Given the description of an element on the screen output the (x, y) to click on. 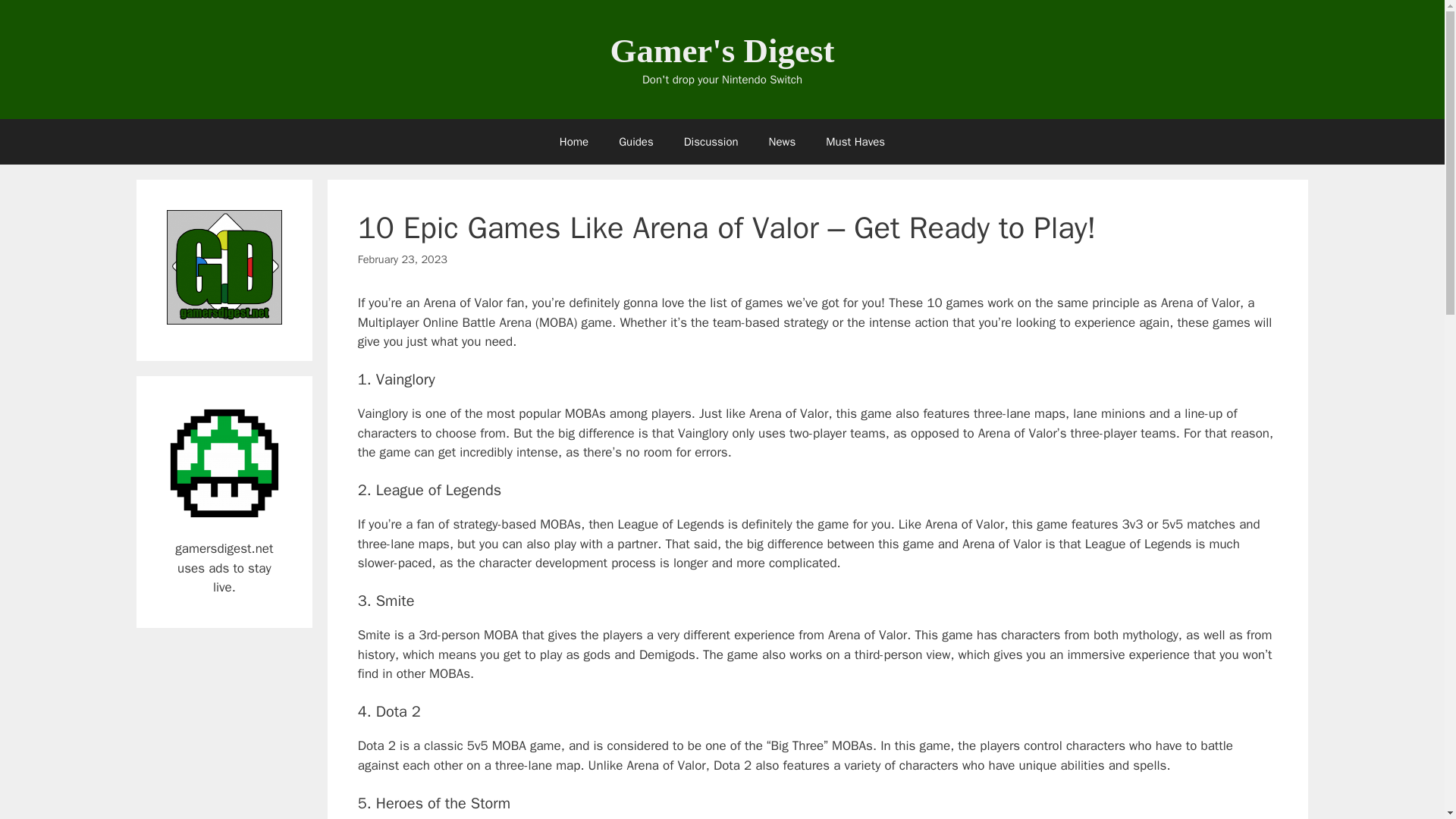
Gamer's Digest (722, 50)
News (782, 140)
February 23, 2023 (402, 259)
Discussion (711, 140)
Must Haves (854, 140)
7:05 pm (402, 259)
Home (574, 140)
Guides (636, 140)
